Given the description of an element on the screen output the (x, y) to click on. 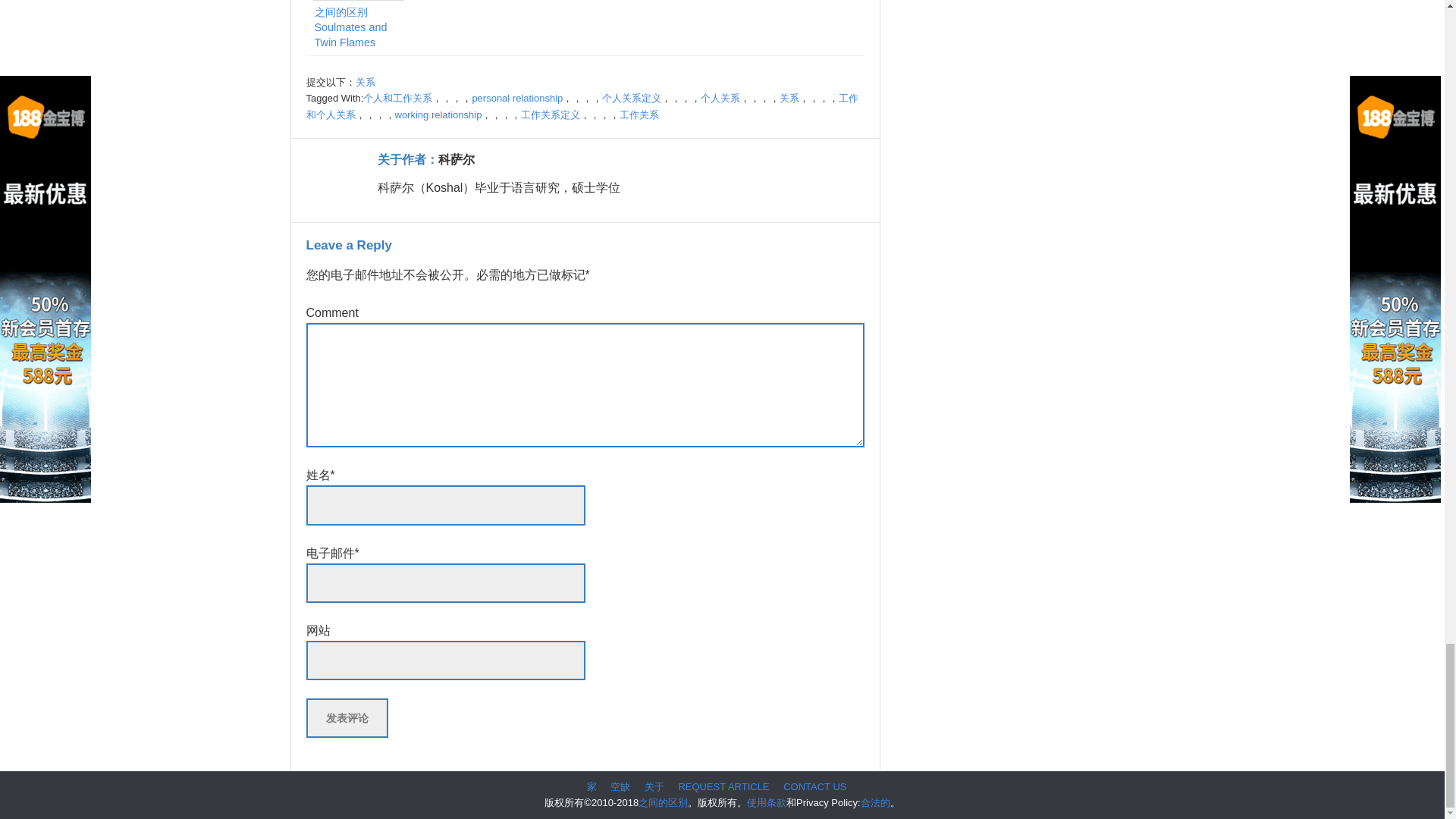
working relationship (437, 114)
personal relationship (516, 98)
